Given the description of an element on the screen output the (x, y) to click on. 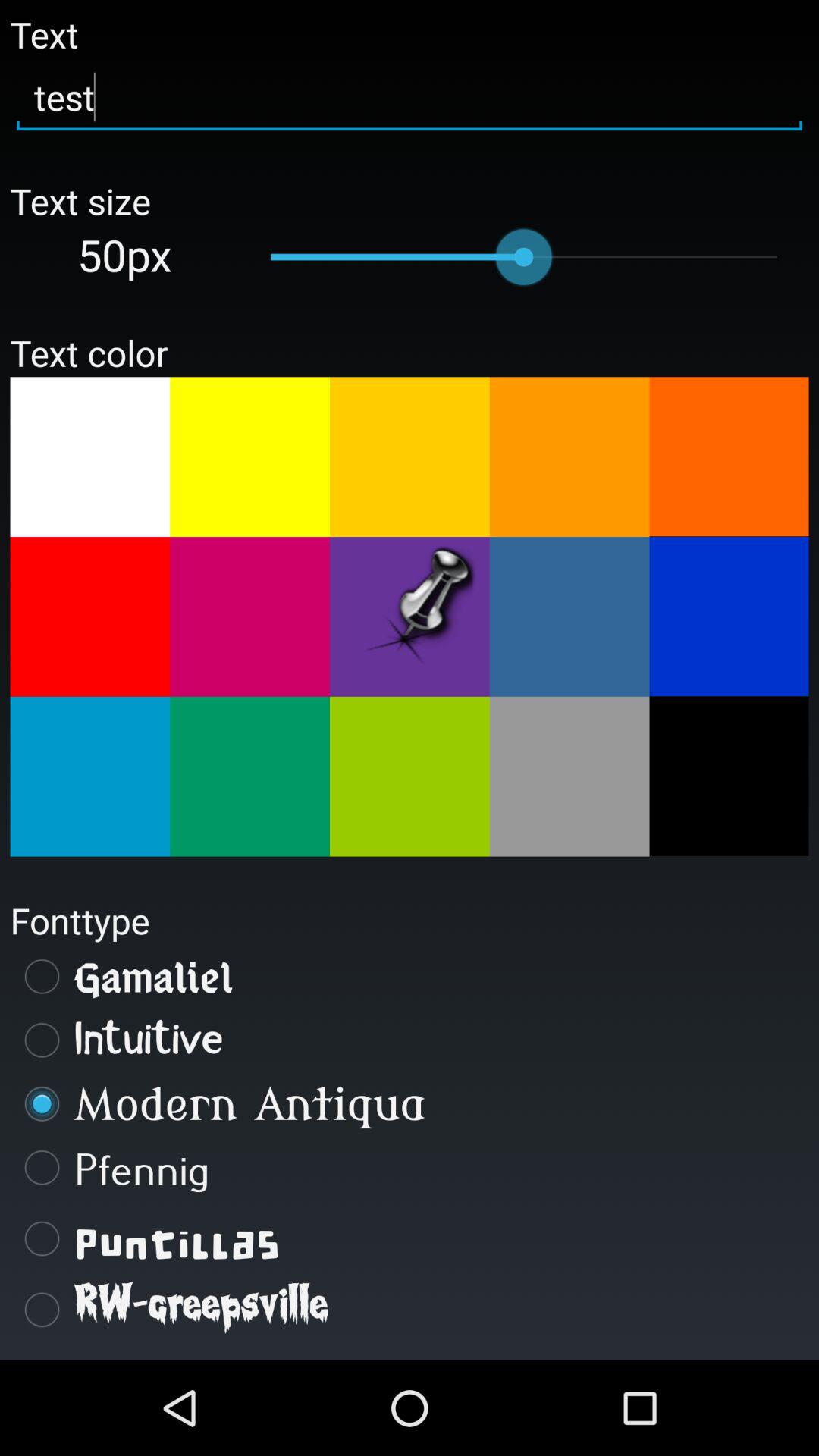
color selection for text (249, 456)
